Given the description of an element on the screen output the (x, y) to click on. 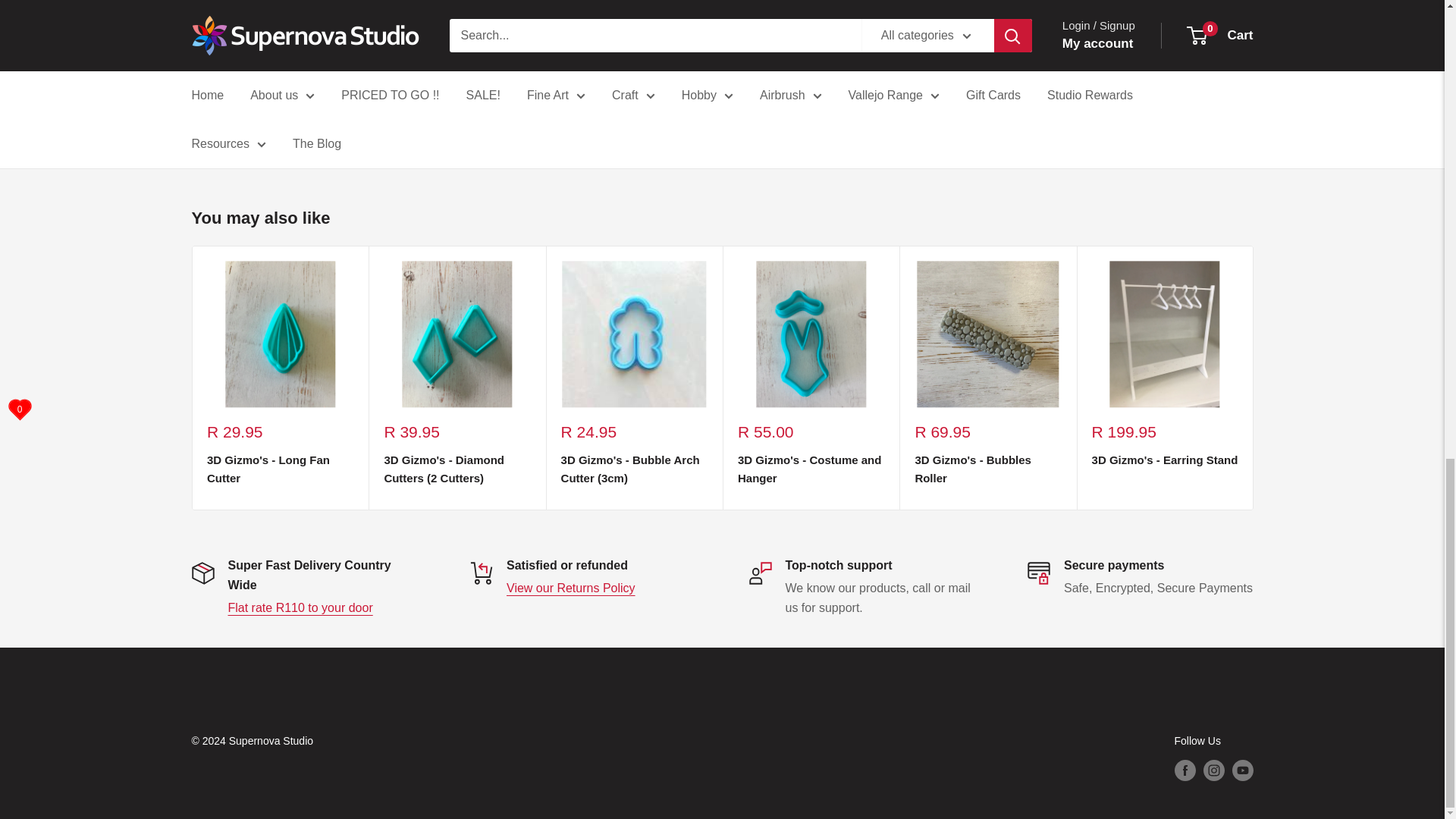
Returns (570, 587)
Shipping (299, 607)
